Given the description of an element on the screen output the (x, y) to click on. 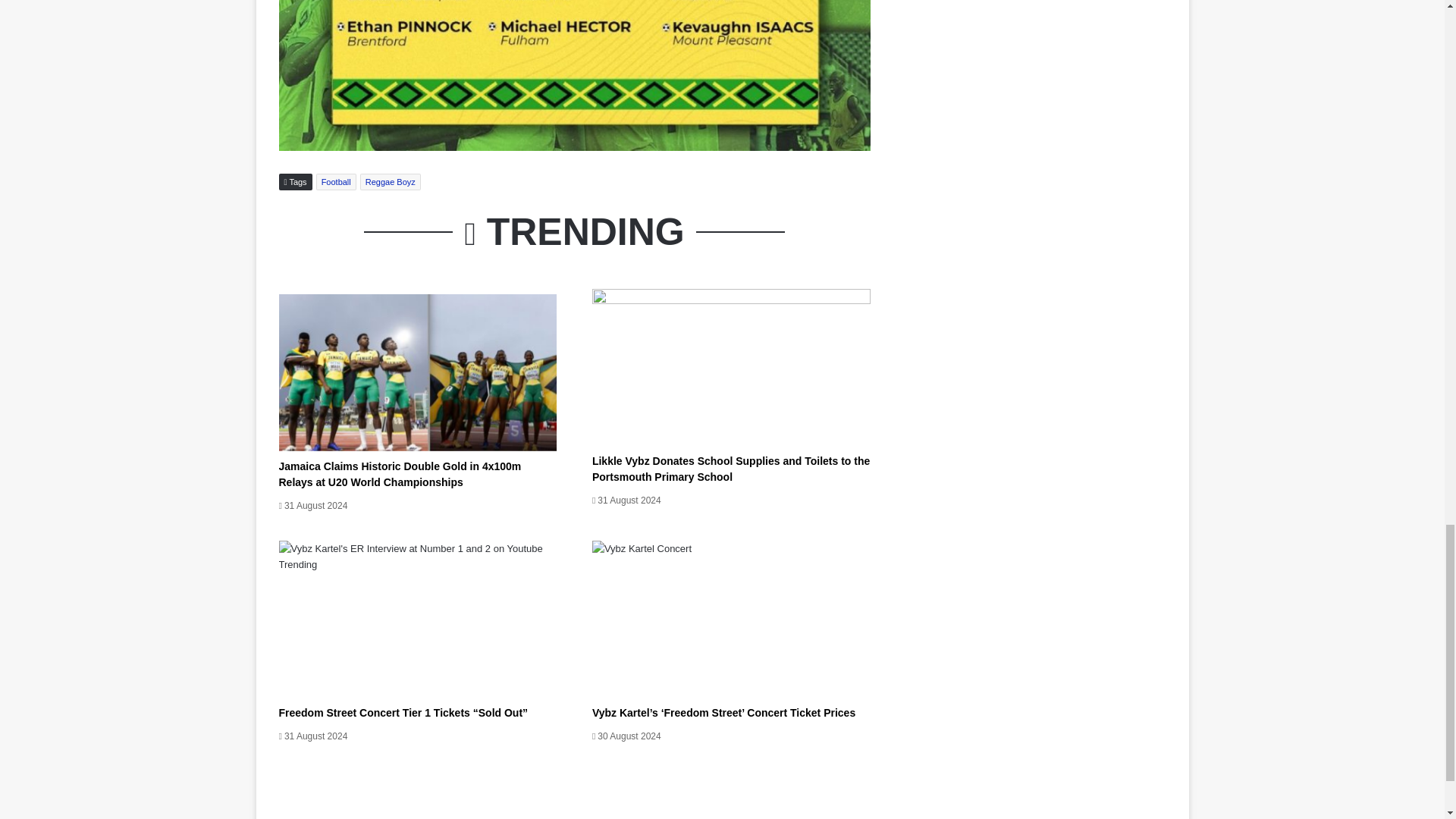
Reggae Boyz (389, 181)
Football (335, 181)
